Given the description of an element on the screen output the (x, y) to click on. 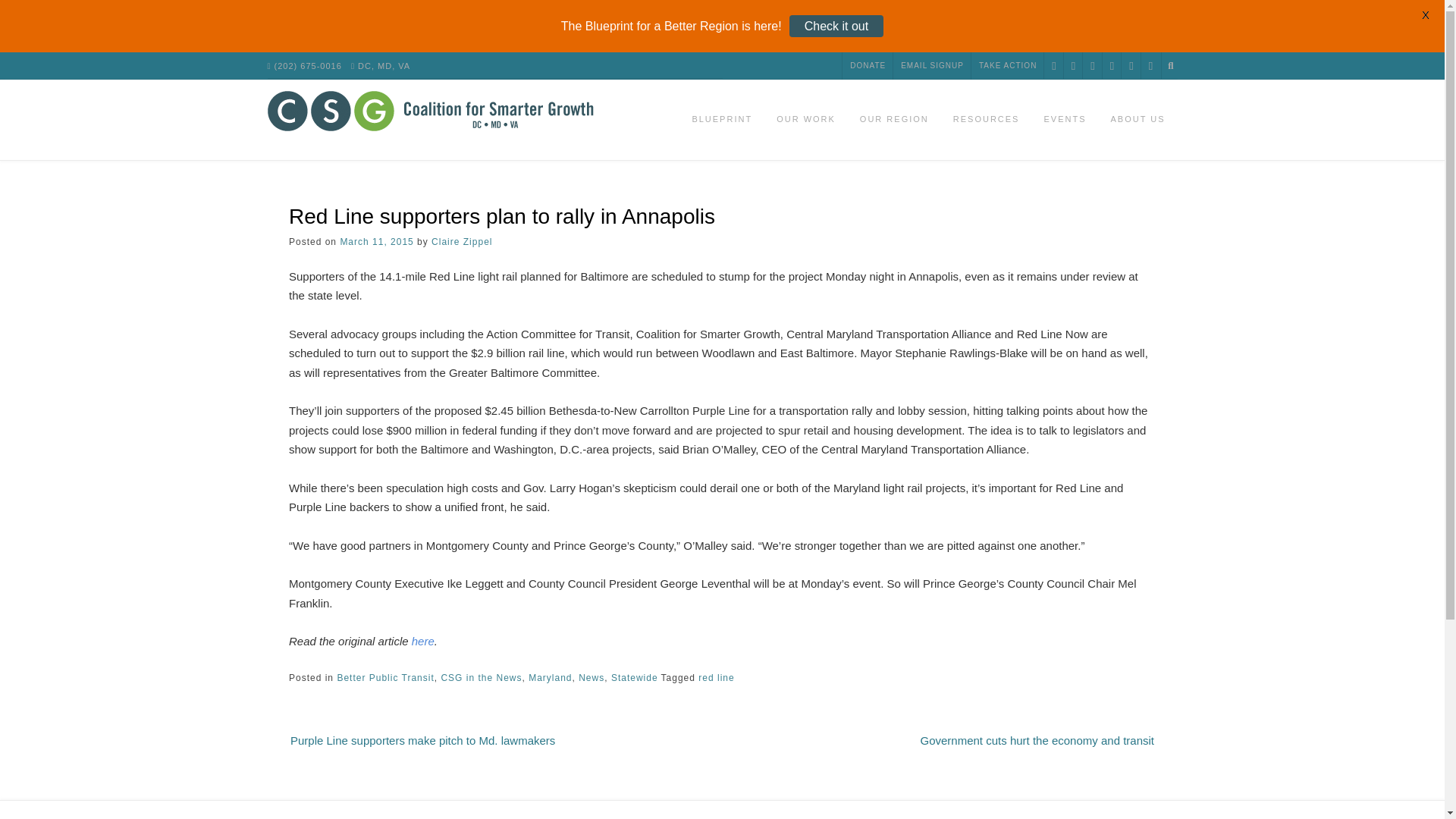
EMAIL SIGNUP (932, 65)
TAKE ACTION (1007, 65)
BLUEPRINT (721, 119)
DONATE (868, 65)
OUR WORK (805, 119)
